Given the description of an element on the screen output the (x, y) to click on. 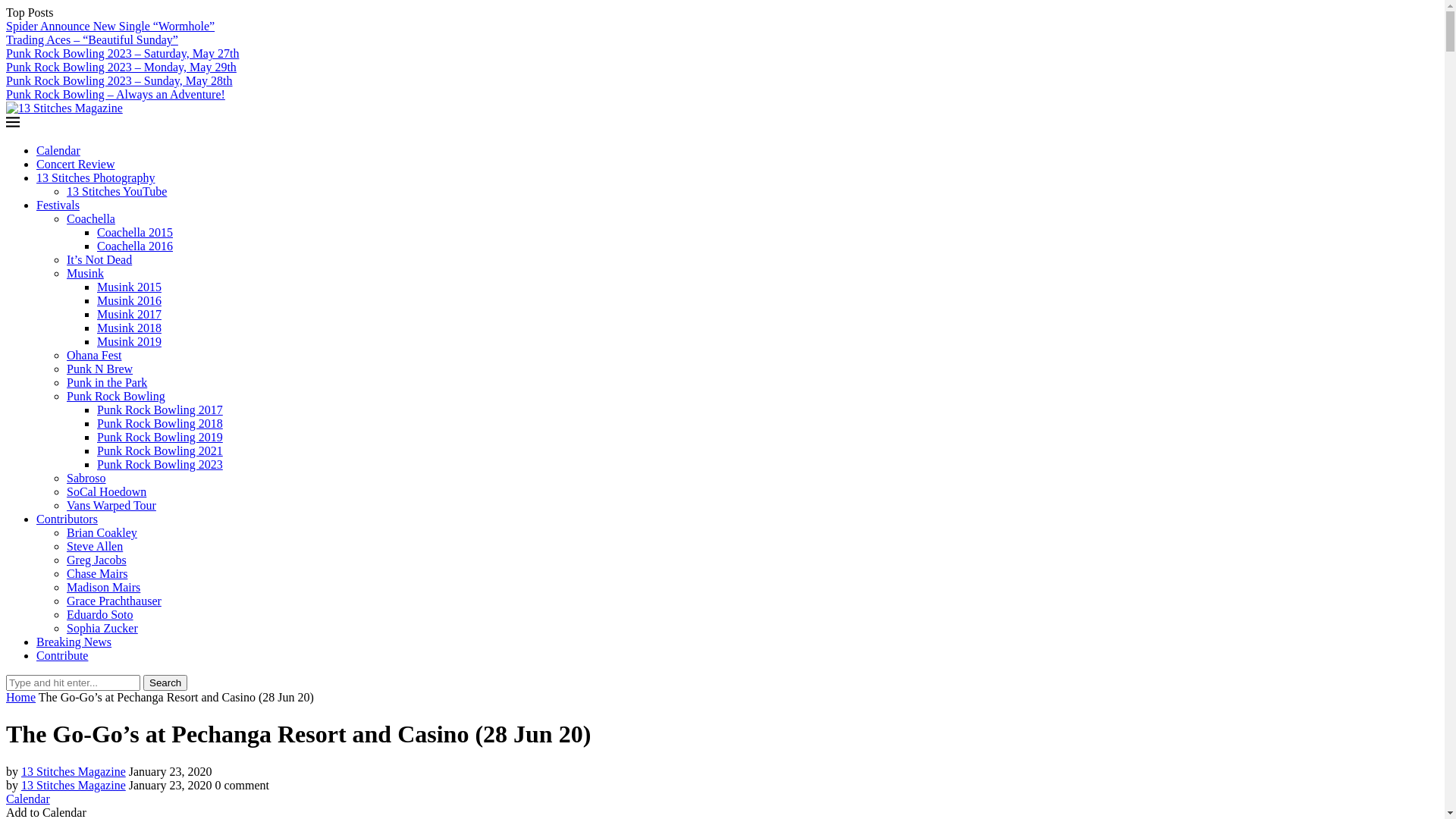
Musink Element type: text (84, 272)
Calendar Element type: text (28, 798)
Musink 2017 Element type: text (129, 313)
Grace Prachthauser Element type: text (113, 600)
Punk Rock Bowling 2018 Element type: text (159, 423)
13 Stitches Photography Element type: text (95, 177)
Chase Mairs Element type: text (96, 573)
Festivals Element type: text (57, 204)
Punk Rock Bowling 2017 Element type: text (159, 409)
13 Stitches YouTube Element type: text (116, 191)
Musink 2015 Element type: text (129, 286)
Contributors Element type: text (66, 518)
13 Stitches Magazine Element type: text (73, 784)
Ohana Fest Element type: text (93, 354)
Greg Jacobs Element type: text (96, 559)
Punk Rock Bowling 2021 Element type: text (159, 450)
Punk Rock Bowling Element type: text (115, 395)
Breaking News Element type: text (73, 641)
Vans Warped Tour Element type: text (111, 504)
Musink 2016 Element type: text (129, 300)
Madison Mairs Element type: text (103, 586)
SoCal Hoedown Element type: text (106, 491)
Sophia Zucker Element type: text (102, 627)
Musink 2018 Element type: text (129, 327)
Coachella Element type: text (90, 218)
Musink 2019 Element type: text (129, 341)
Calendar Element type: text (58, 150)
Eduardo Soto Element type: text (99, 614)
Punk Rock Bowling 2023 Element type: text (159, 464)
Punk Rock Bowling 2019 Element type: text (159, 436)
Sabroso Element type: text (86, 477)
Contribute Element type: text (61, 655)
13 Stitches Magazine Element type: text (73, 771)
Steve Allen Element type: text (94, 545)
Home Element type: text (20, 696)
Concert Review Element type: text (75, 163)
Search Element type: text (165, 682)
Punk N Brew Element type: text (99, 368)
Brian Coakley Element type: text (101, 532)
Punk in the Park Element type: text (106, 382)
Coachella 2015 Element type: text (134, 231)
Coachella 2016 Element type: text (134, 245)
